Given the description of an element on the screen output the (x, y) to click on. 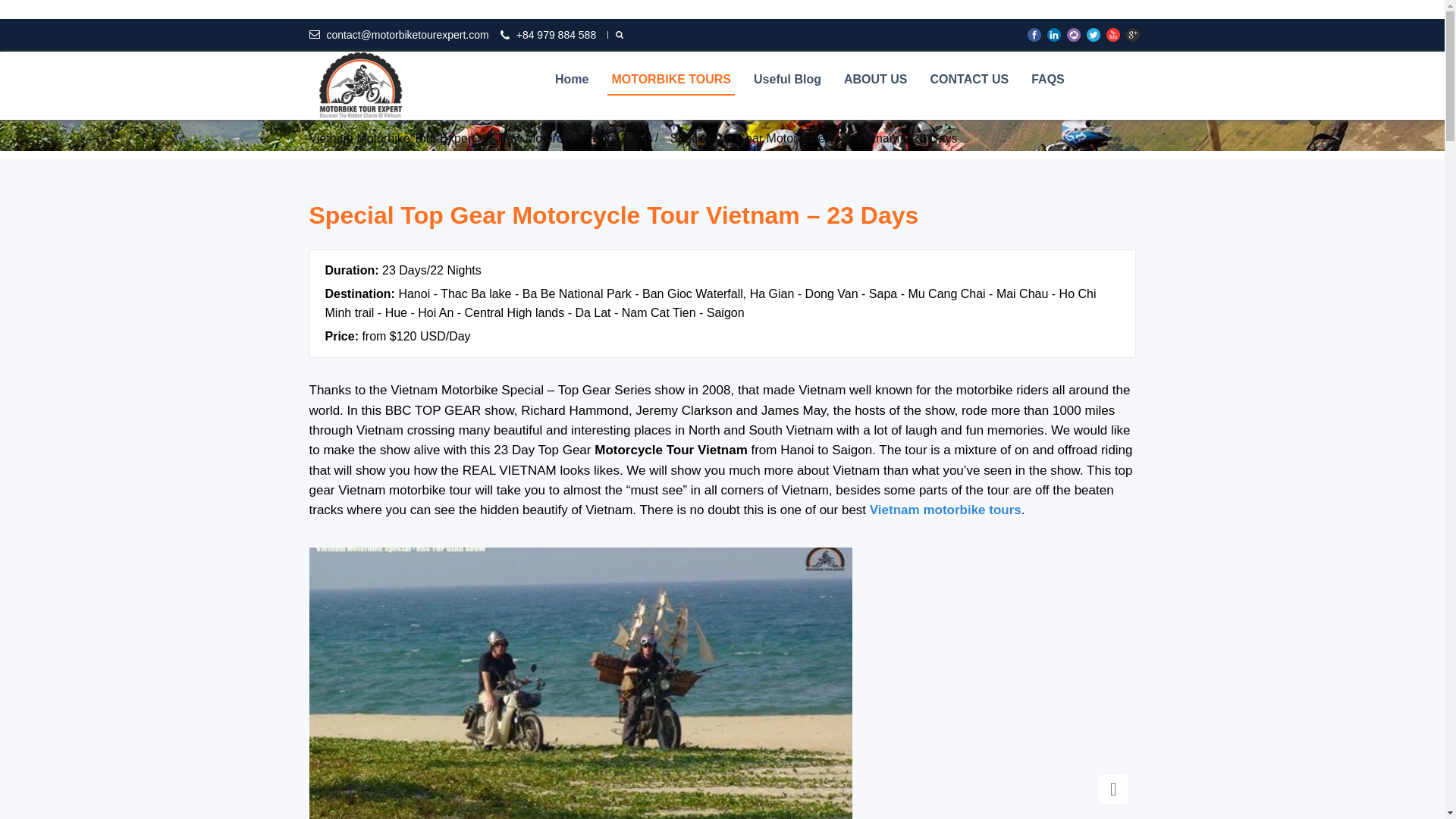
MOTORBIKE TOURS (671, 80)
CONTACT US (968, 80)
Home (571, 80)
Vietnam Motorbike Tour Expert (392, 138)
New Motorcycle Tours 2024 (572, 138)
Useful Blog (787, 80)
ABOUT US (875, 80)
FAQS (1047, 80)
